Given the description of an element on the screen output the (x, y) to click on. 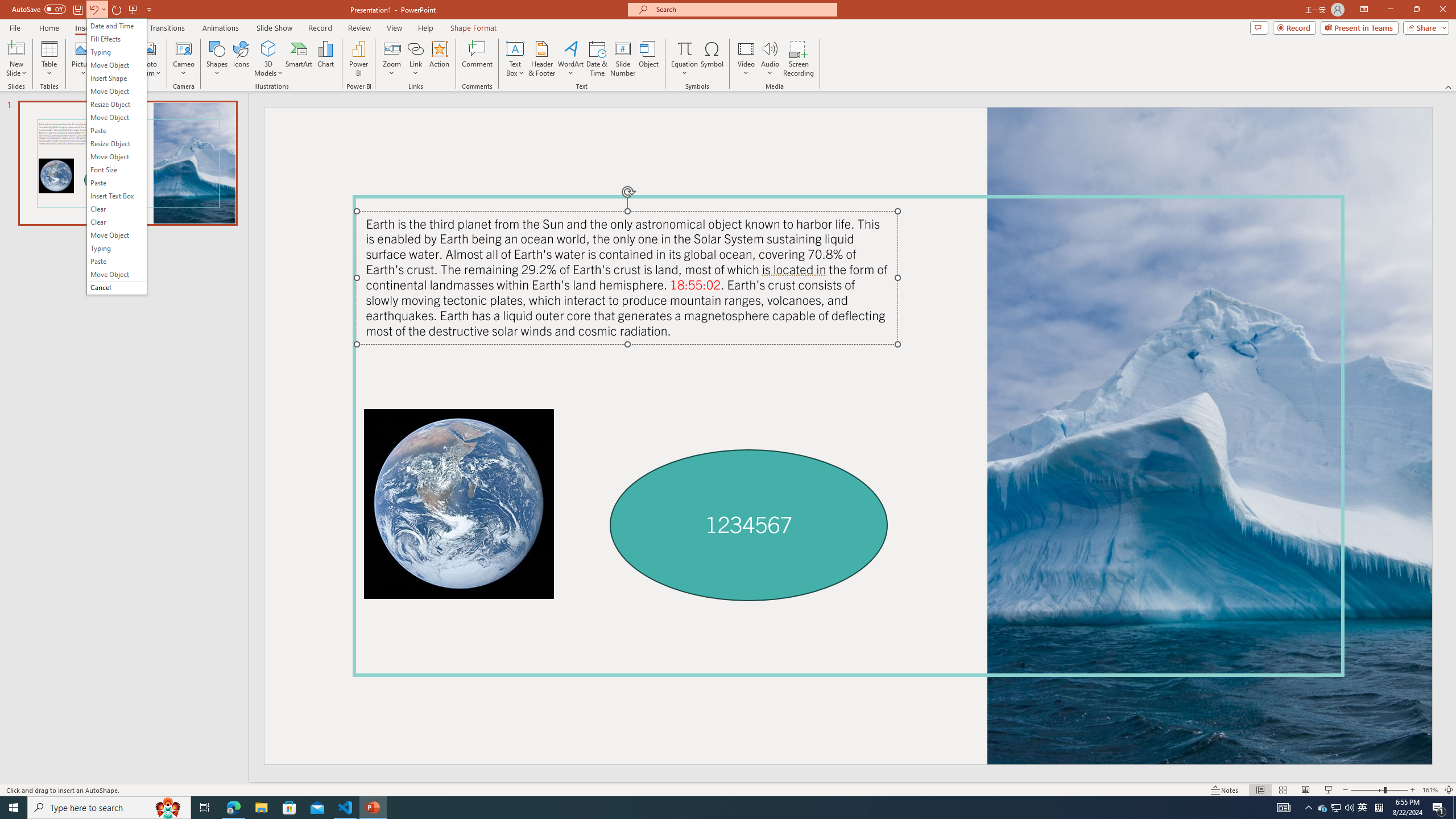
Microsoft Edge - 1 running window (233, 807)
File Tab (15, 27)
Share (1423, 27)
Slide Number (622, 58)
Shape Format (473, 28)
Shapes (216, 58)
Cameo (183, 48)
3D Models (268, 48)
Link (1335, 807)
Q2790: 100% (415, 58)
Zoom to Fit  (1349, 807)
